Given the description of an element on the screen output the (x, y) to click on. 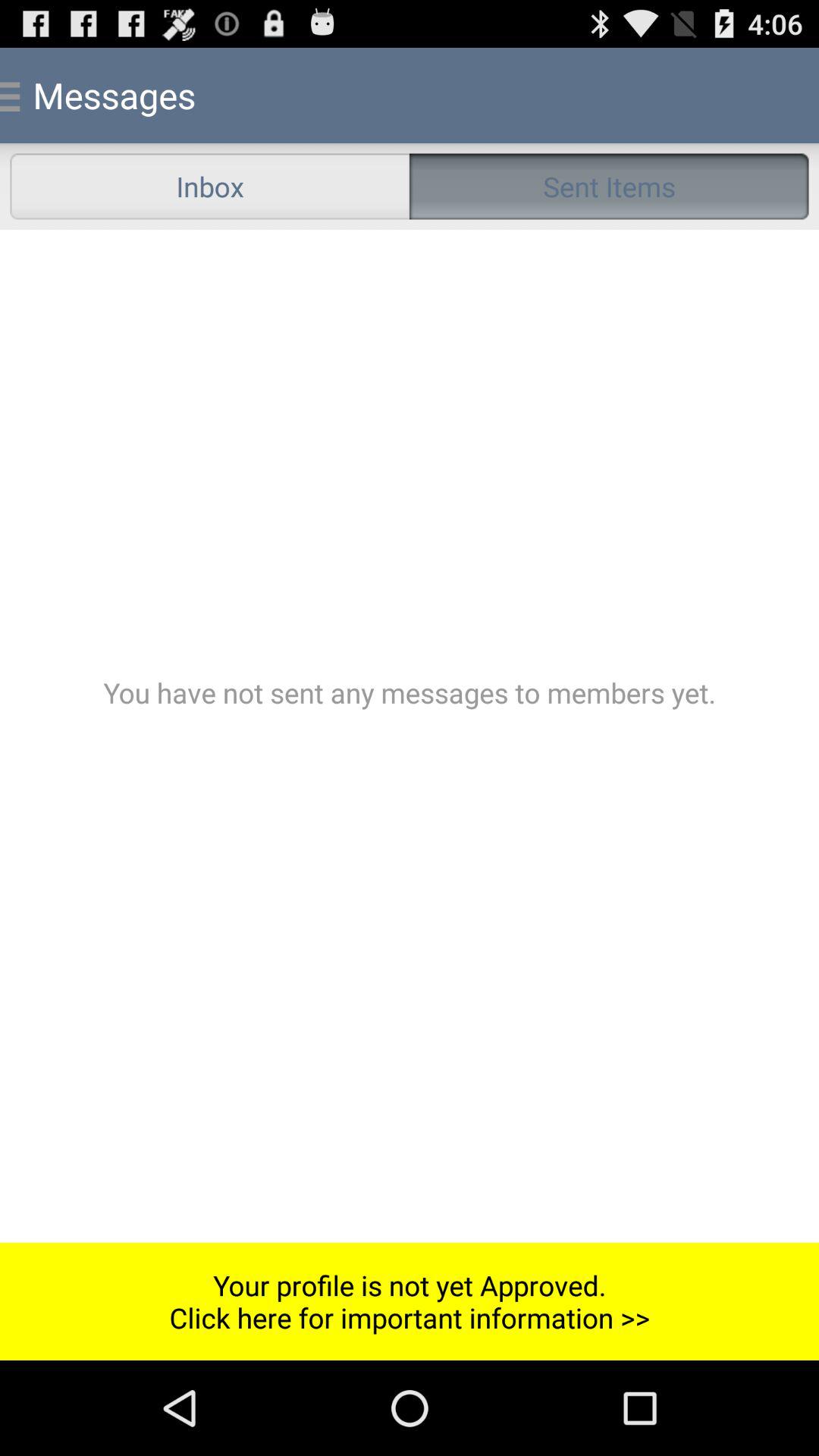
swipe to the your profile is button (409, 1301)
